Given the description of an element on the screen output the (x, y) to click on. 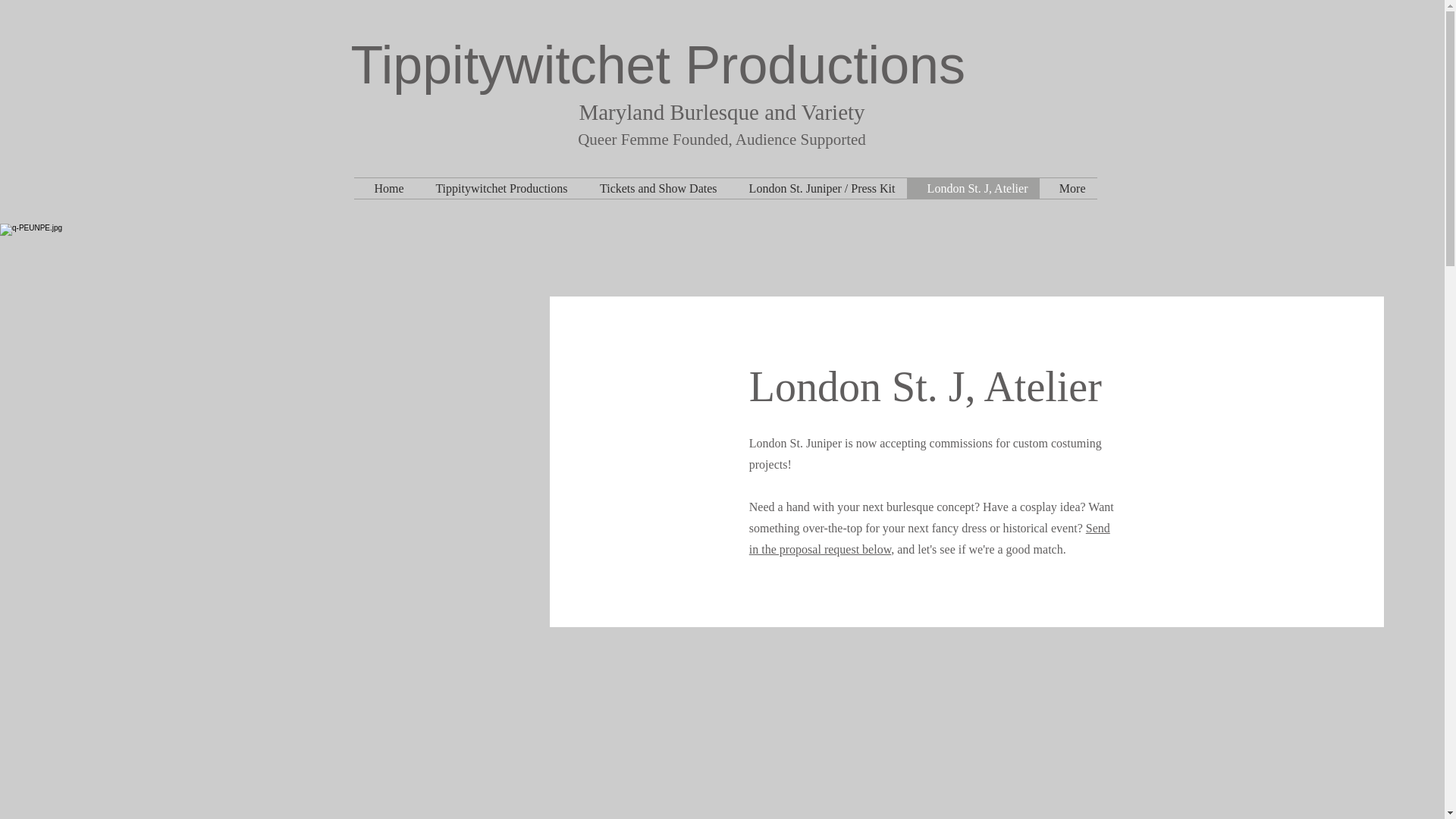
London St. J, Atelier (973, 188)
Tippitywitchet Productions (496, 188)
Send in the proposal request below (929, 538)
Home (383, 188)
Tickets and Show Dates (654, 188)
Tippitywitchet Productions (657, 65)
